Given the description of an element on the screen output the (x, y) to click on. 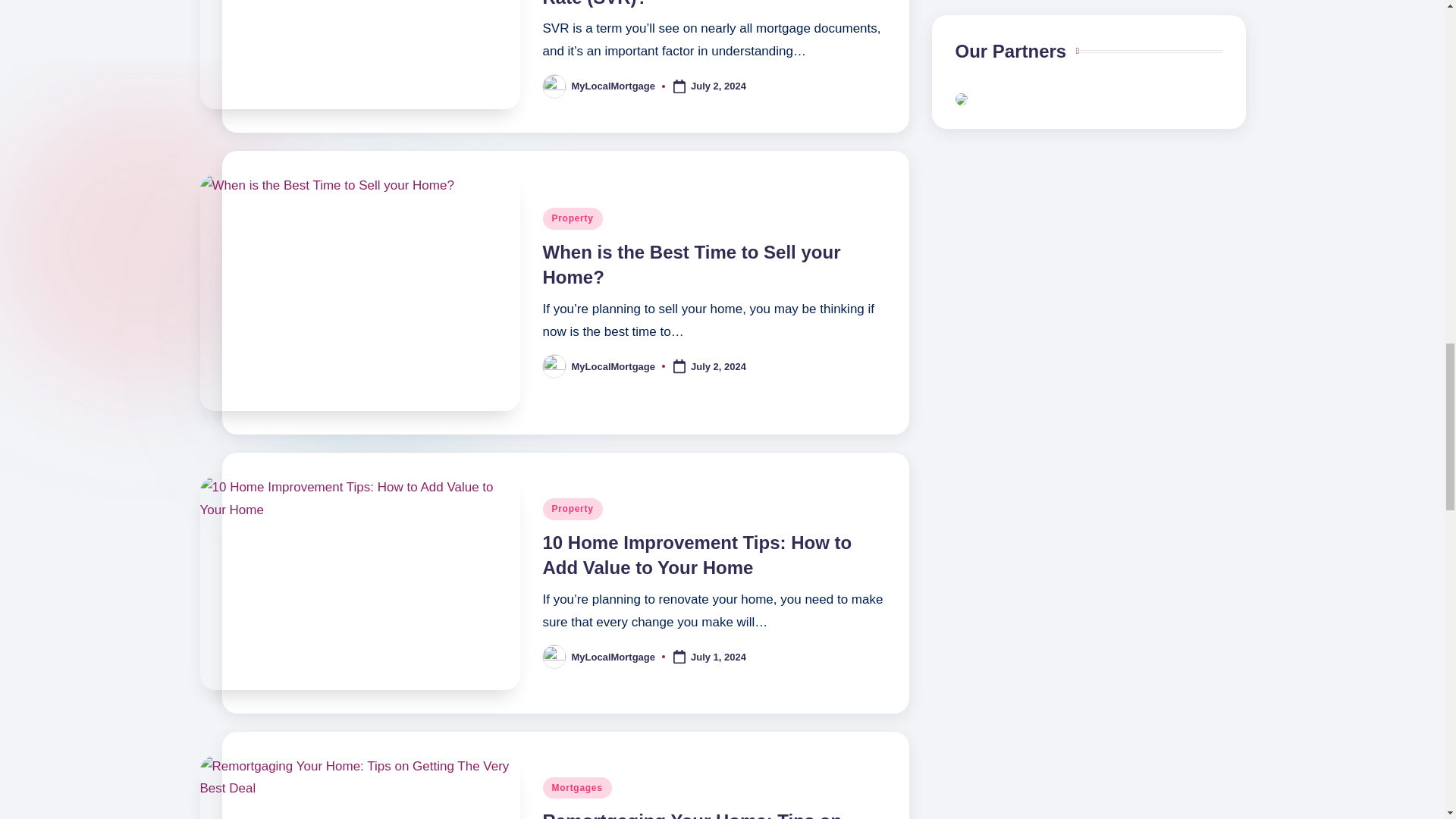
When is the Best Time to Sell your Home? (692, 264)
View all posts by MyLocalMortgage (614, 85)
10 Home Improvement Tips: How to Add Value to Your Home (697, 555)
View all posts by MyLocalMortgage (614, 656)
View all posts by MyLocalMortgage (614, 366)
